Given the description of an element on the screen output the (x, y) to click on. 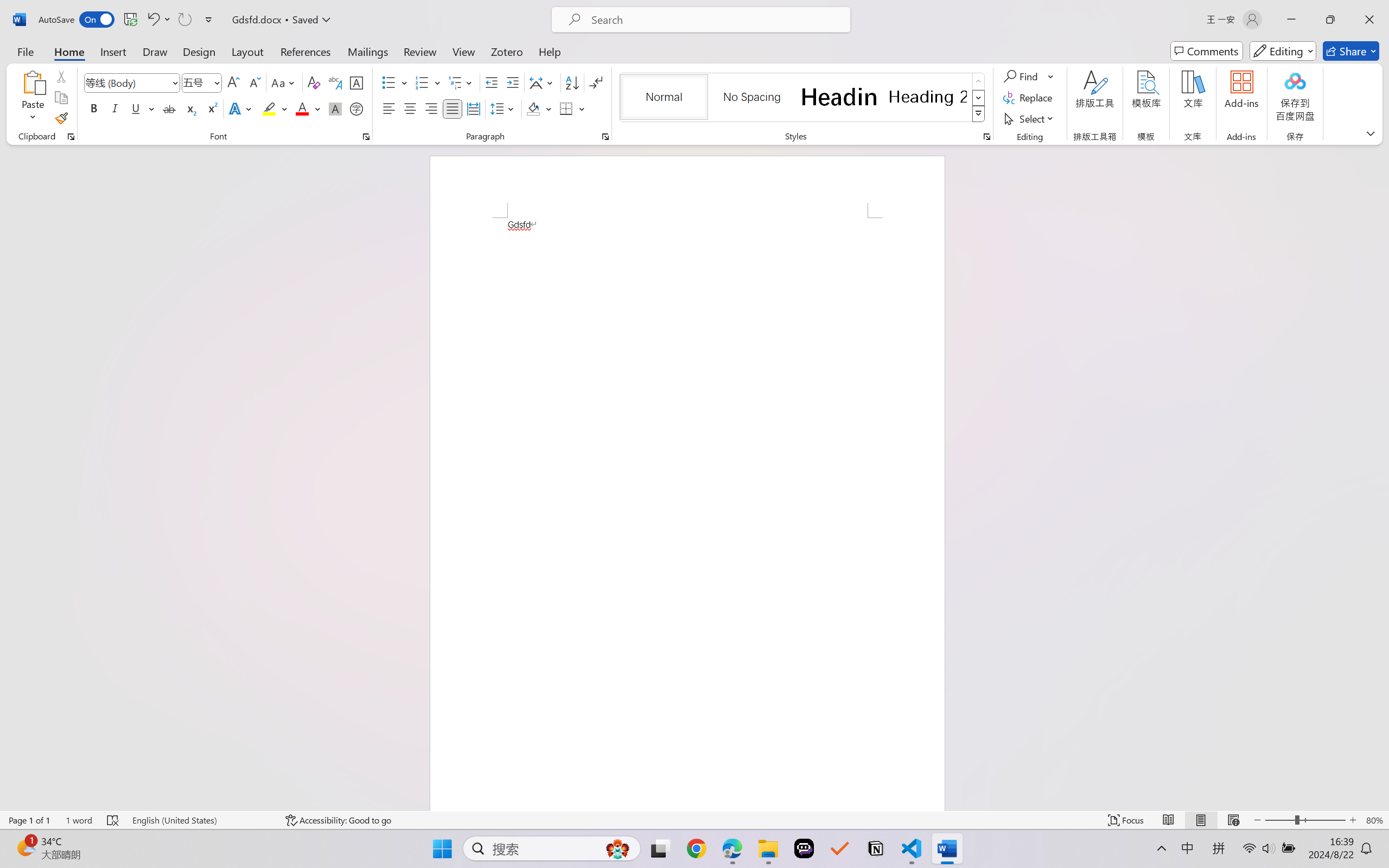
Page 1 content (686, 513)
